Given the description of an element on the screen output the (x, y) to click on. 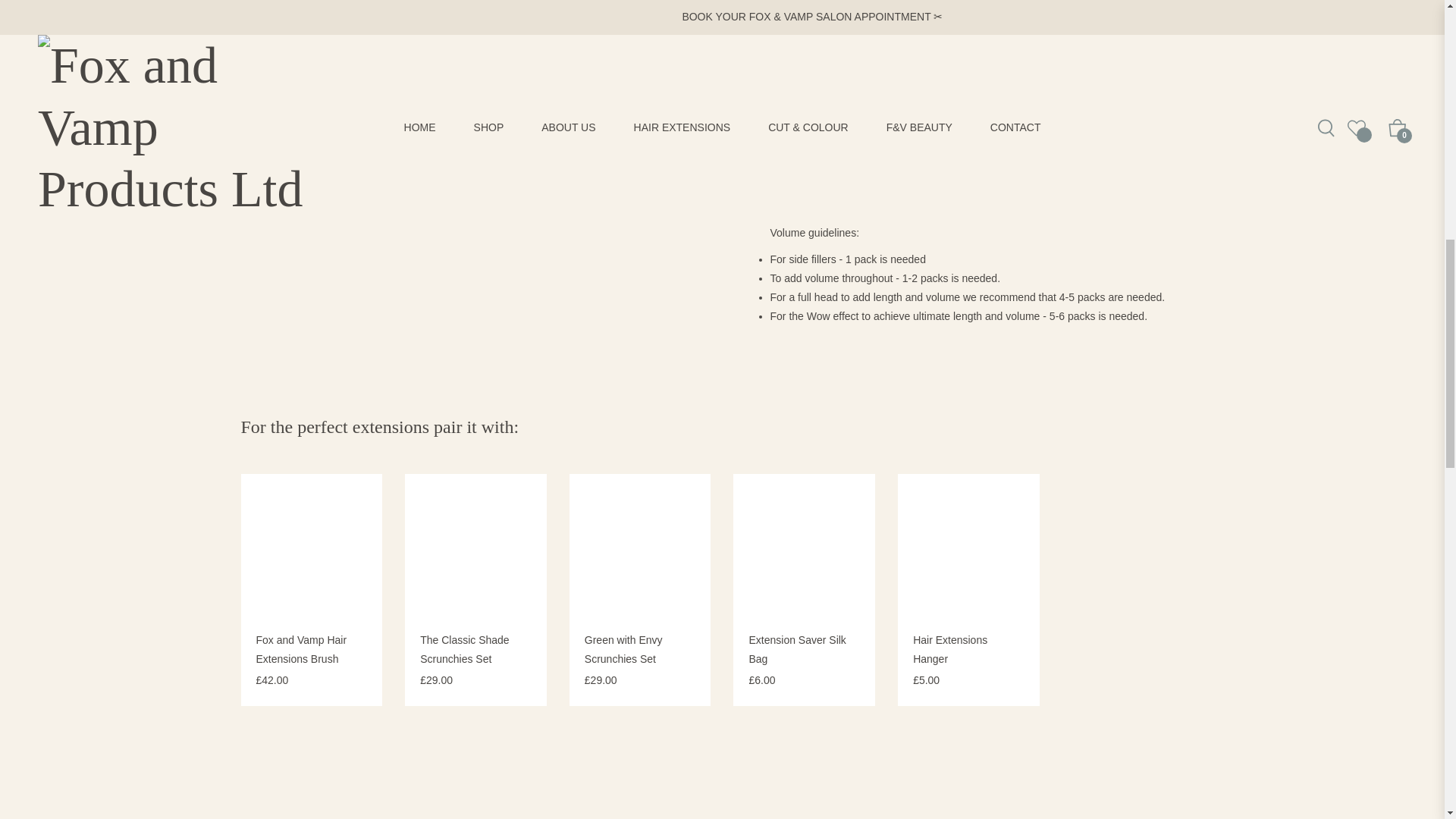
Hair Extensions Hanger (949, 649)
The Classic Shade Scrunchies Set (464, 649)
Green with Envy Scrunchies Set (623, 649)
Extension Saver Silk Bag (796, 649)
Fox and Vamp Hair Extensions Brush (301, 649)
